Given the description of an element on the screen output the (x, y) to click on. 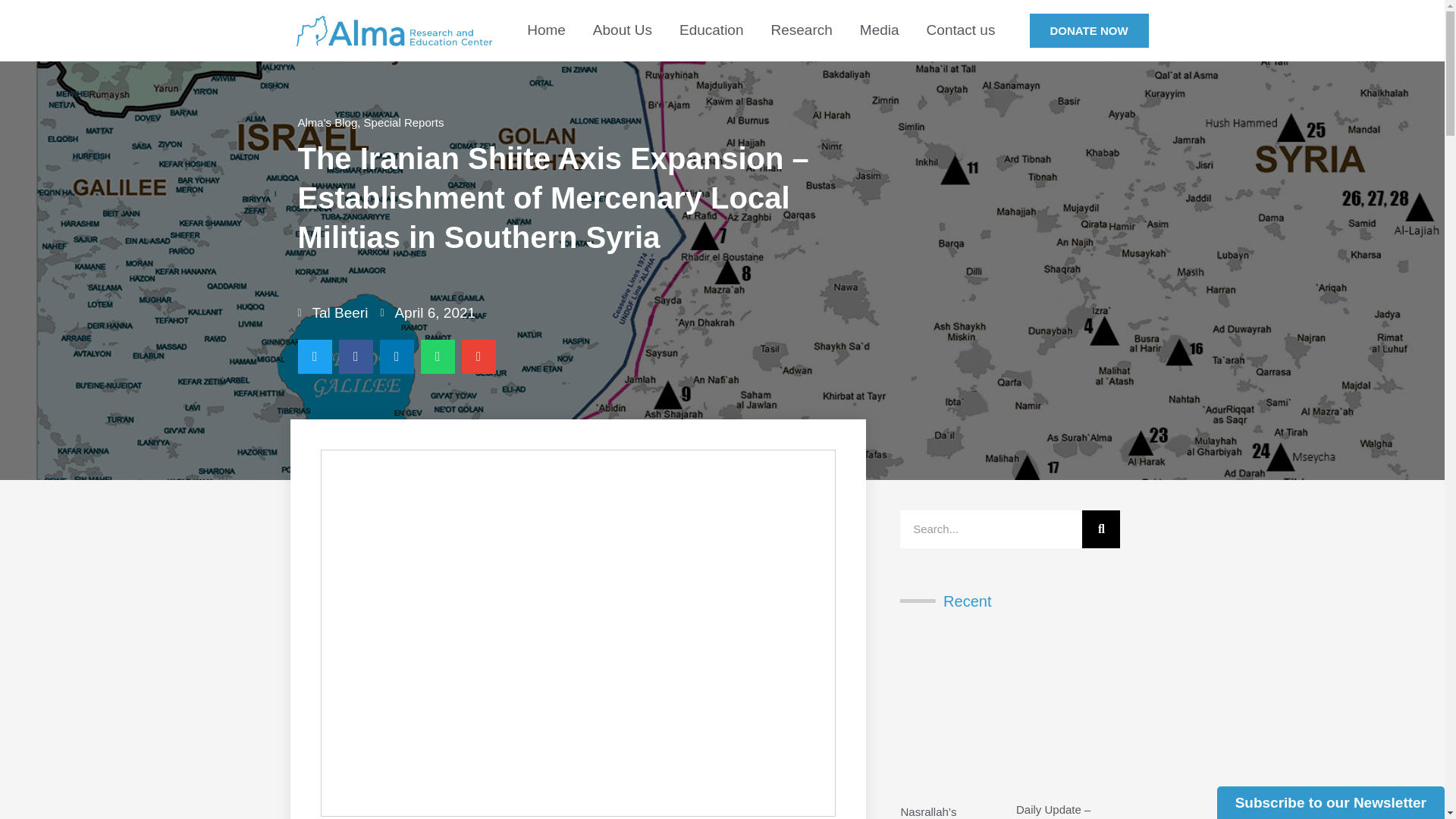
Tal Beeri (332, 313)
Research (801, 30)
About Us (622, 30)
About Us (622, 30)
DONATE NOW (1088, 30)
Education (711, 30)
April 6, 2021 (428, 313)
Alma Research and Education Center (546, 30)
Alma's Blog (326, 122)
Research (801, 30)
